Given the description of an element on the screen output the (x, y) to click on. 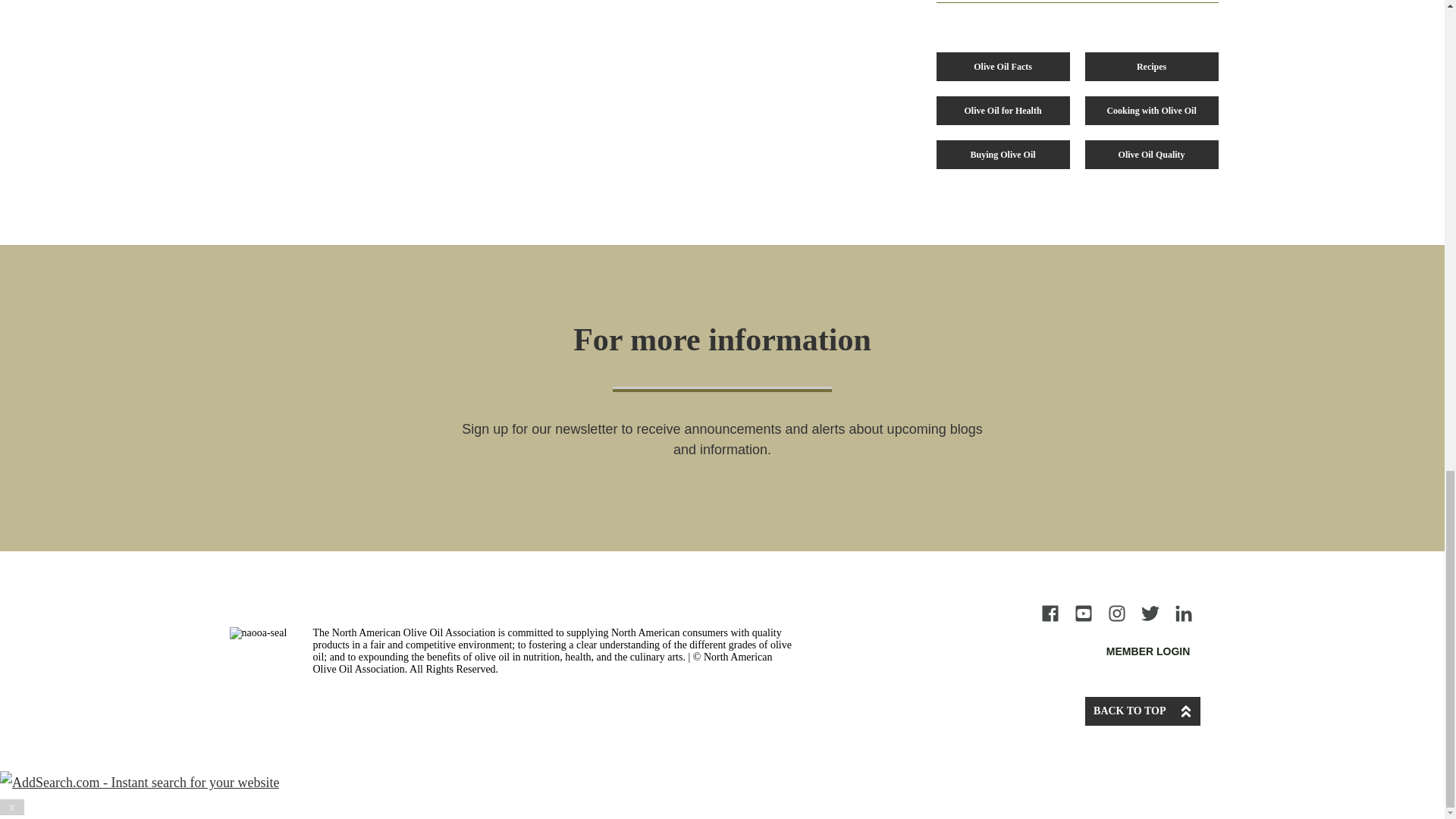
Buying Olive Oil (1003, 154)
Recipes (1151, 66)
Cooking with Olive Oil (1151, 110)
Olive Oil Facts (1003, 66)
Olive Oil Quality (1151, 154)
BACK TO TOP (1141, 710)
Olive Oil for Health (1003, 110)
